Given the description of an element on the screen output the (x, y) to click on. 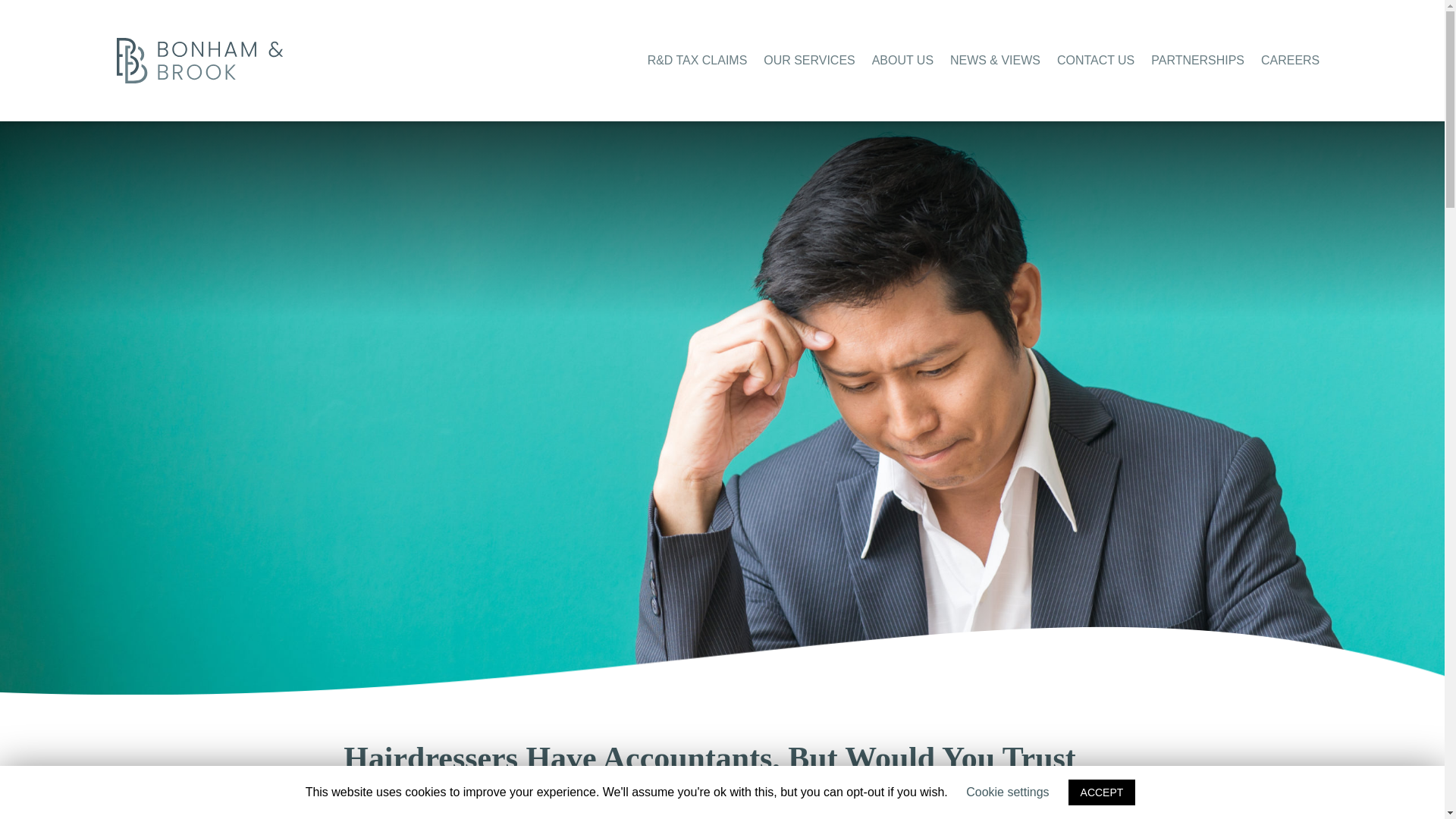
PARTNERSHIPS (1197, 60)
ABOUT US (902, 60)
CAREERS (1289, 60)
CONTACT US (1095, 60)
OUR SERVICES (808, 60)
